Given the description of an element on the screen output the (x, y) to click on. 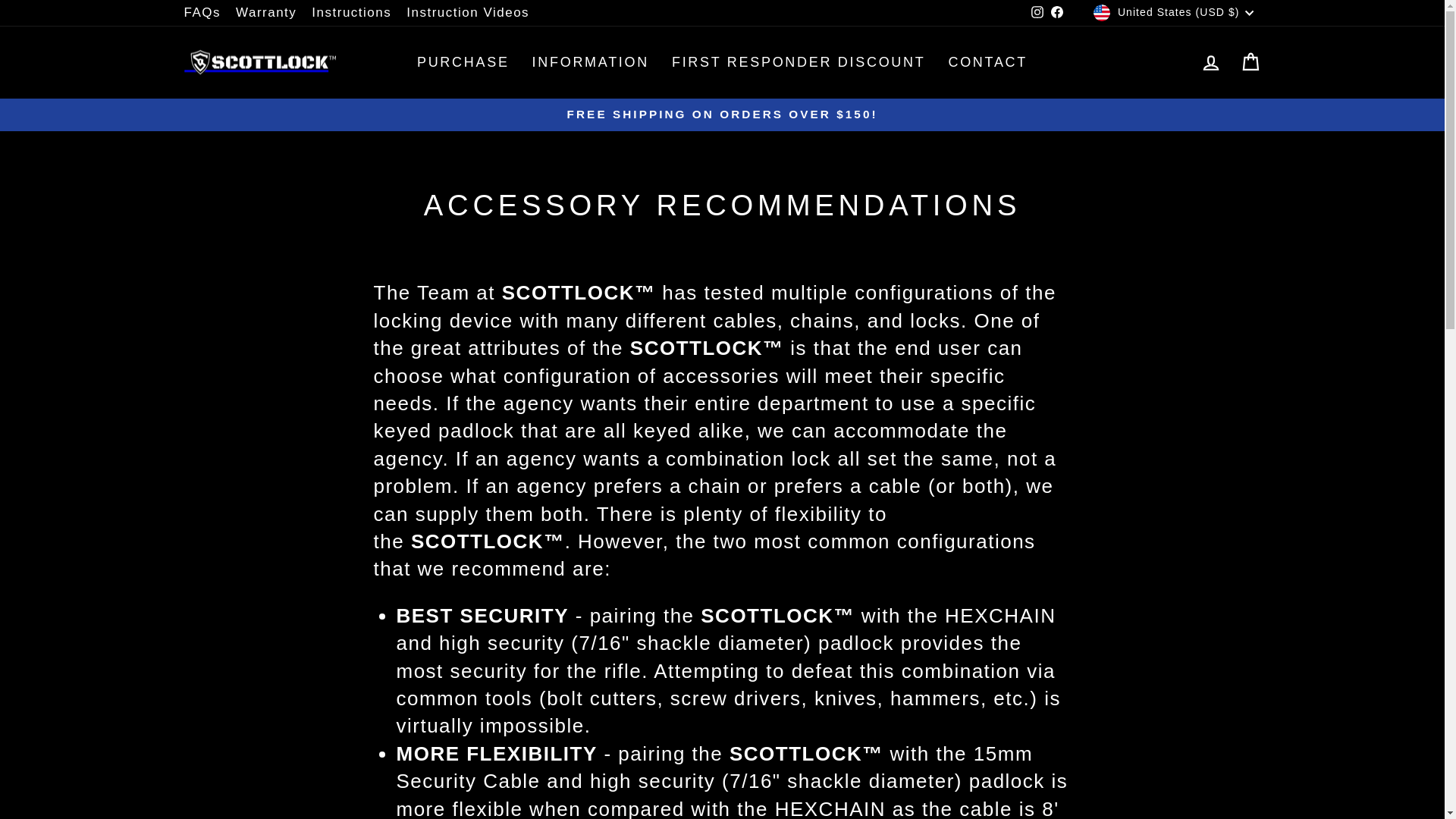
Instructions (351, 12)
Warranty (266, 12)
CONTACT (987, 62)
PURCHASE (463, 62)
Instruction Videos (467, 12)
INFORMATION (591, 62)
FIRST RESPONDER DISCOUNT (799, 62)
FAQs (202, 12)
